Given the description of an element on the screen output the (x, y) to click on. 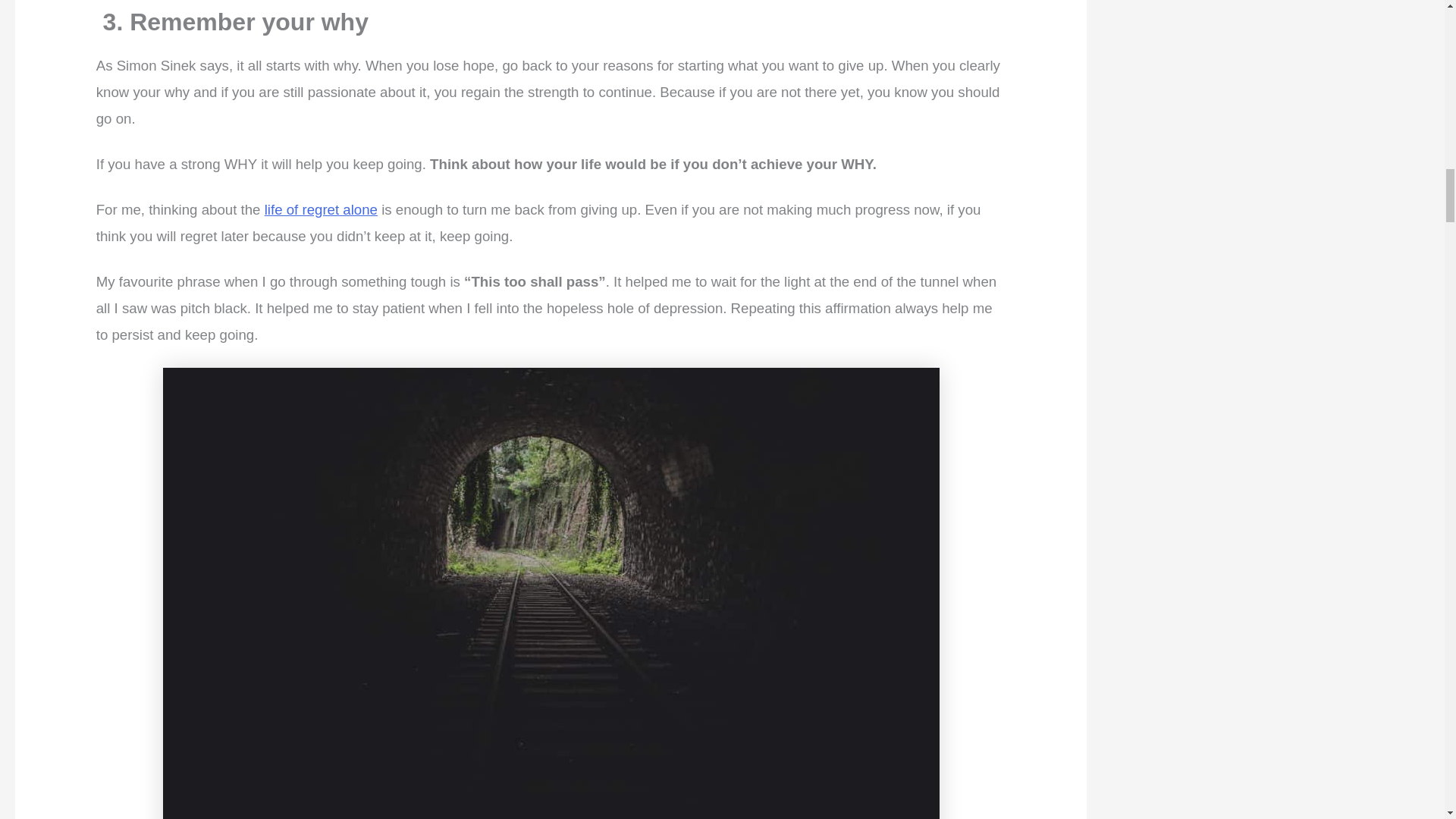
life of regret alone (320, 209)
